Given the description of an element on the screen output the (x, y) to click on. 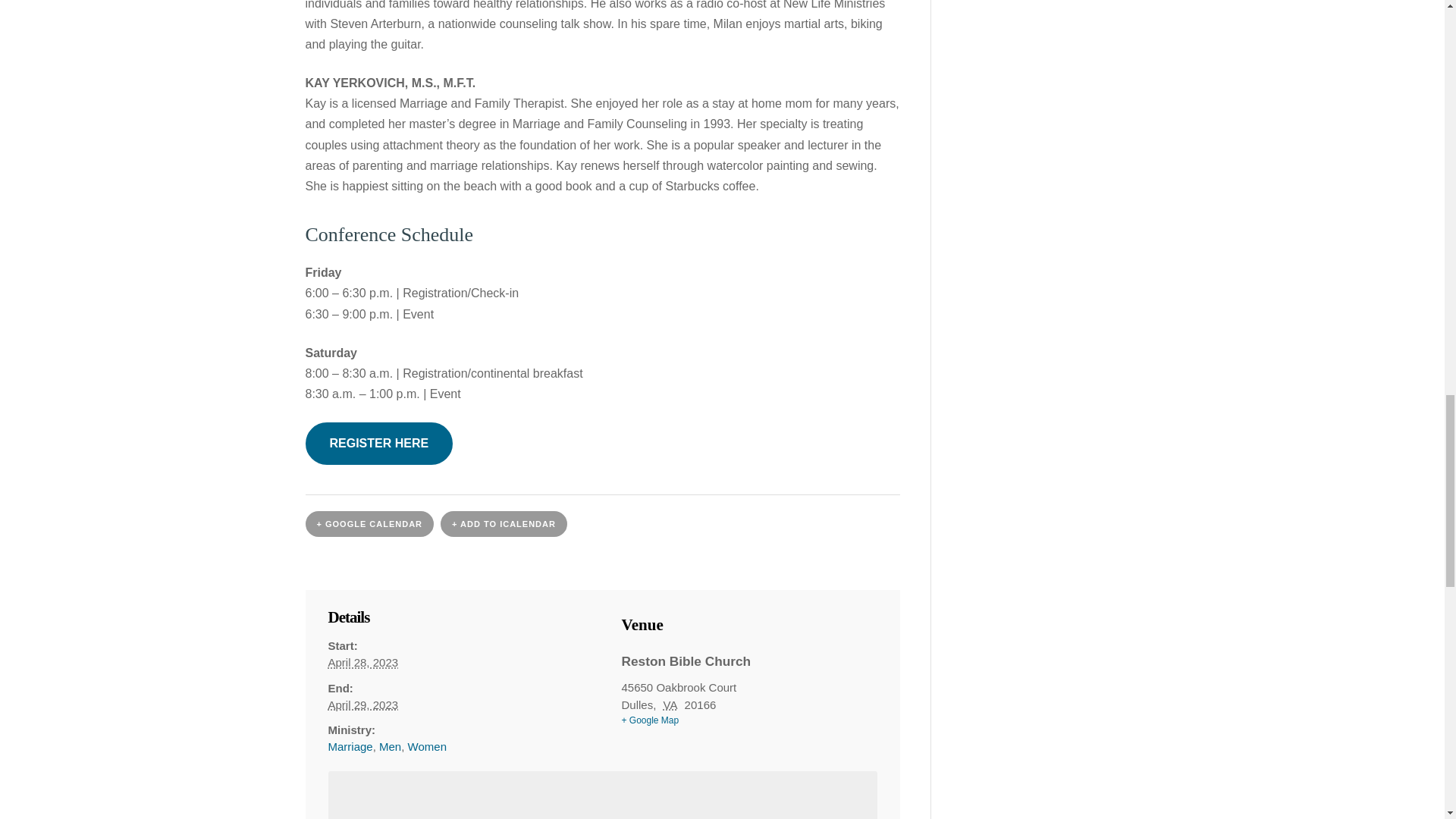
Virginia (670, 704)
2023-04-29 (362, 704)
Add to Google Calendar (368, 524)
Download .ics file (504, 524)
Click to view a Google Map (749, 720)
2023-04-28 (362, 662)
